Given the description of an element on the screen output the (x, y) to click on. 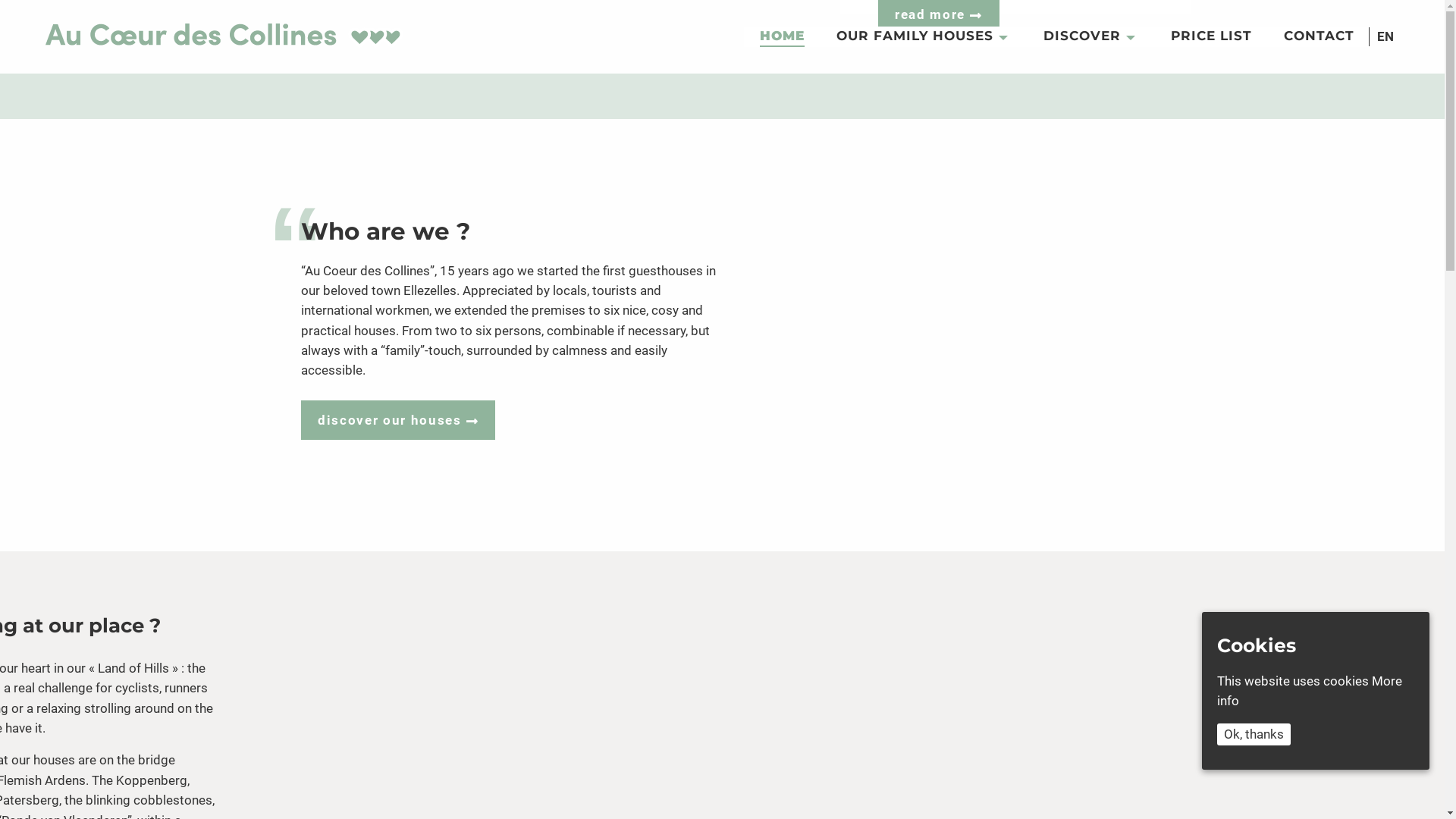
EN Element type: text (1385, 35)
DISCOVER Element type: text (1091, 37)
discover our houses Element type: text (398, 419)
PRICE LIST Element type: text (1211, 37)
HOME Element type: text (781, 38)
CONTACT Element type: text (1318, 37)
OUR FAMILY HOUSES Element type: text (923, 37)
Ok, thanks Element type: text (1253, 734)
More info Element type: text (1309, 690)
